Given the description of an element on the screen output the (x, y) to click on. 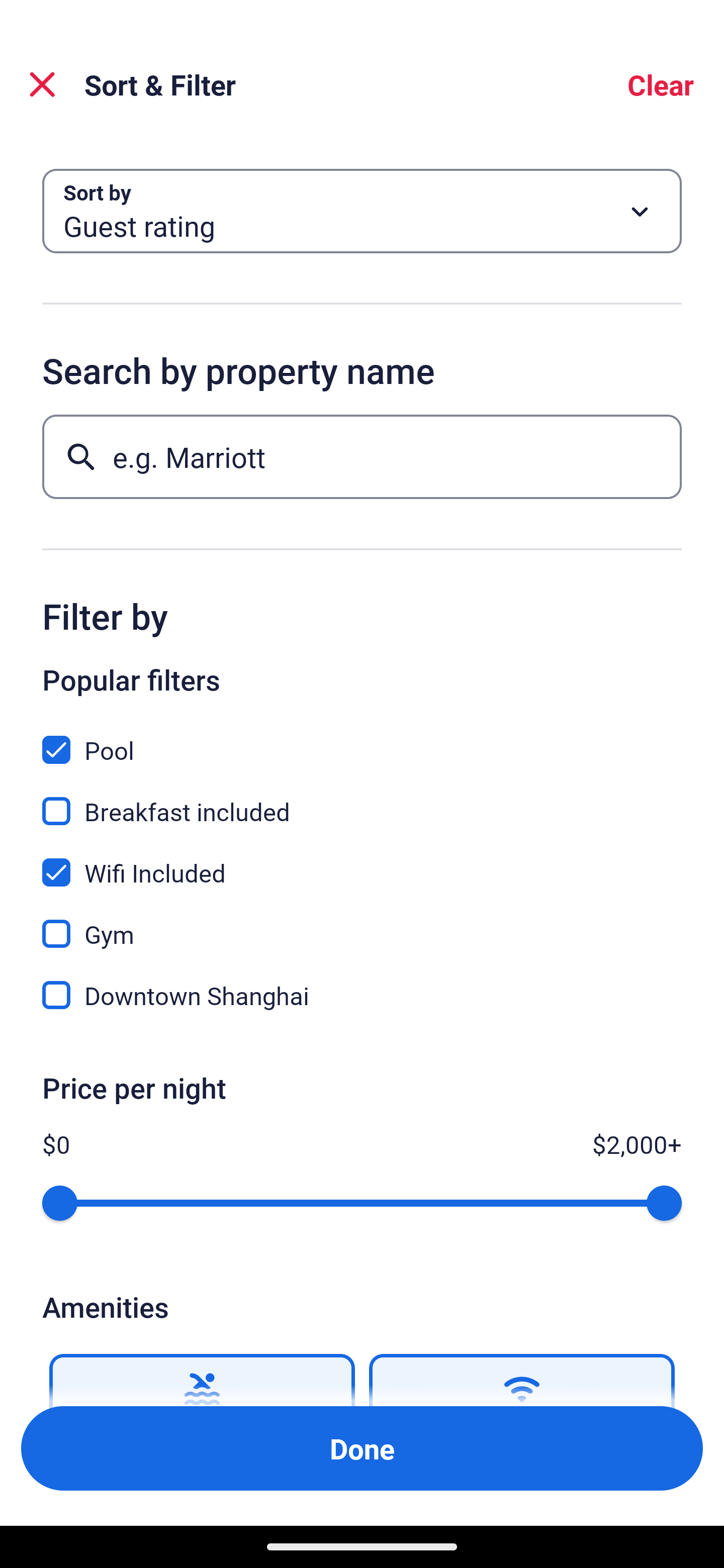
Close Sort and Filter (42, 84)
Clear (660, 84)
Sort by Button Guest rating (361, 211)
e.g. Marriott Button (361, 455)
Pool, Pool (361, 738)
Breakfast included, Breakfast included (361, 800)
Wifi Included, Wifi Included (361, 861)
Gym, Gym (361, 922)
Downtown Shanghai, Downtown Shanghai (361, 995)
Apply and close Sort and Filter Done (361, 1448)
